Given the description of an element on the screen output the (x, y) to click on. 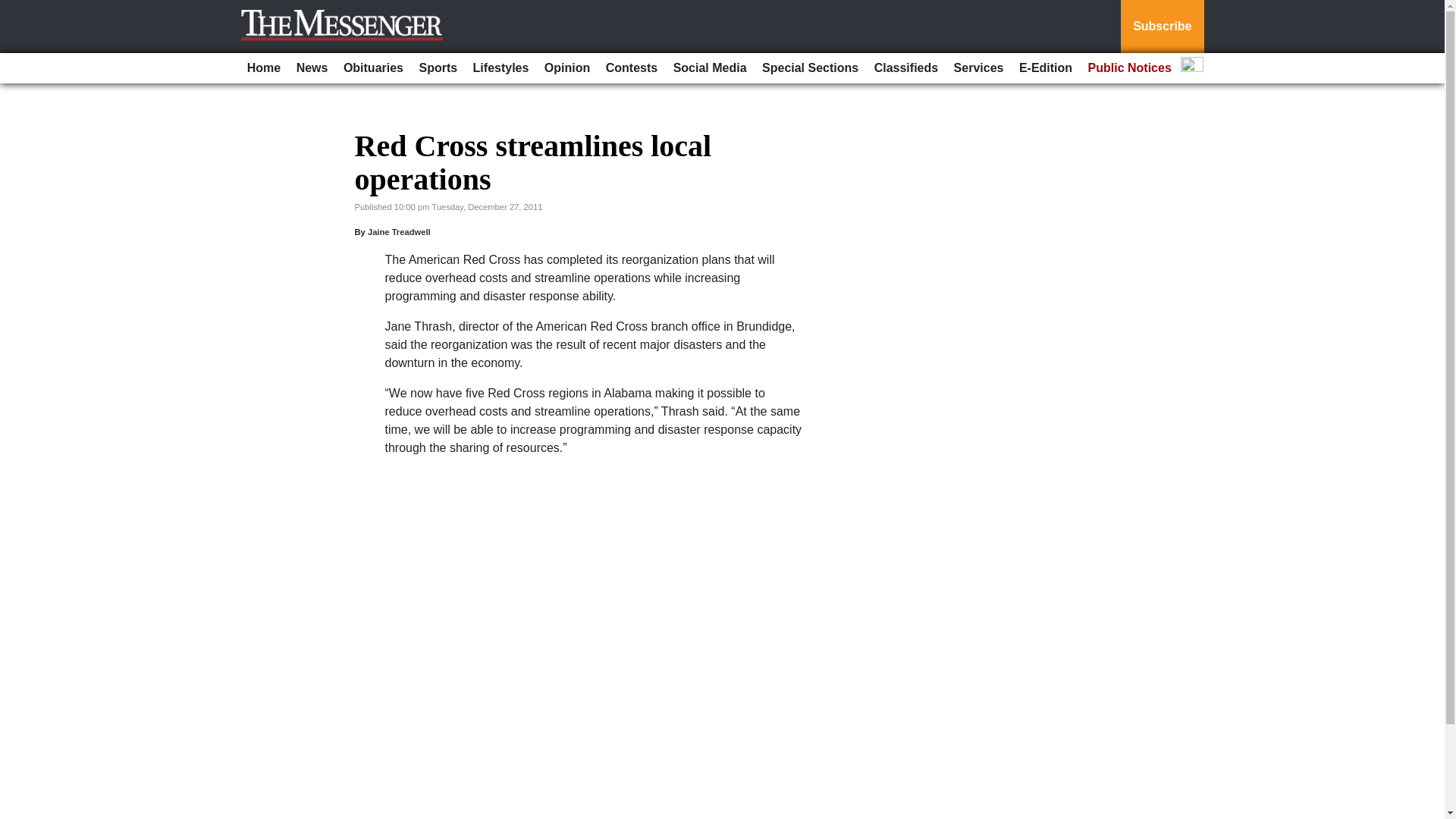
Services (978, 68)
Contests (631, 68)
Public Notices (1129, 68)
E-Edition (1045, 68)
Special Sections (809, 68)
Sports (437, 68)
News (311, 68)
Social Media (709, 68)
Lifestyles (501, 68)
Subscribe (1162, 26)
